Given the description of an element on the screen output the (x, y) to click on. 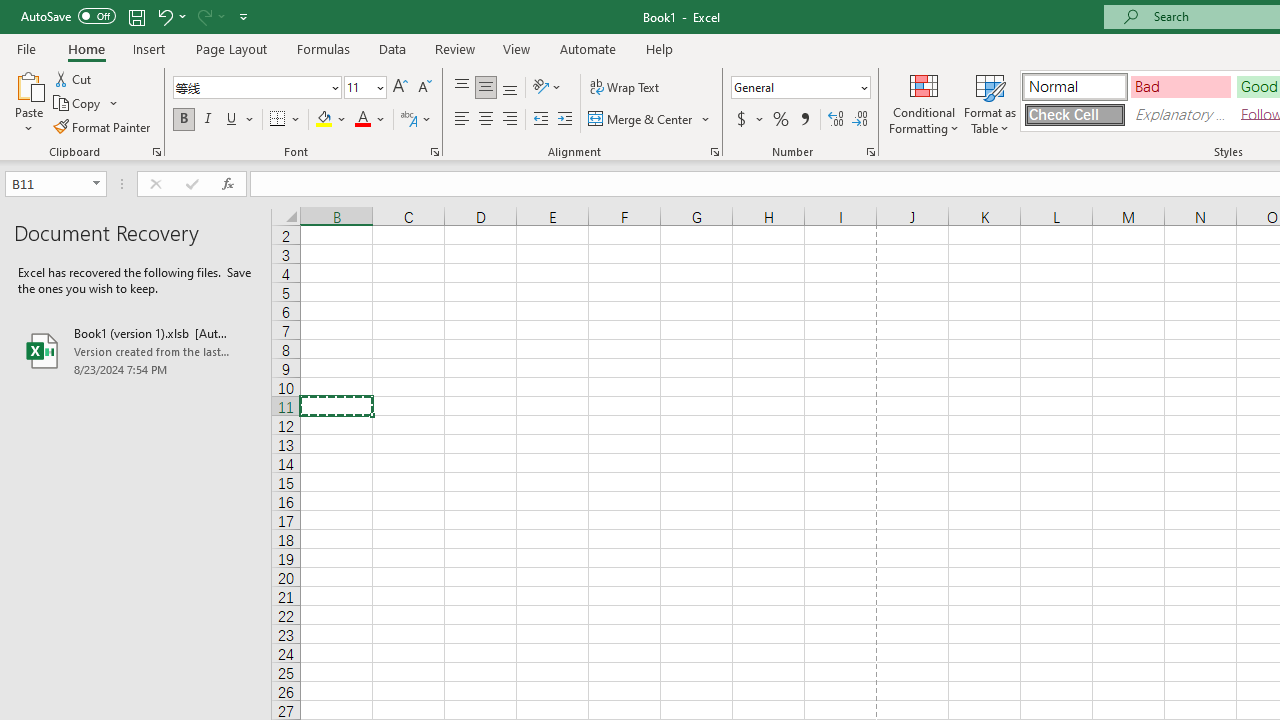
Accounting Number Format (749, 119)
Decrease Indent (540, 119)
Decrease Decimal (859, 119)
Comma Style (804, 119)
Font (250, 87)
Accounting Number Format (741, 119)
Increase Indent (565, 119)
Merge & Center (641, 119)
Number Format (800, 87)
Underline (239, 119)
Bottom Align (509, 87)
Bad (1180, 86)
